Given the description of an element on the screen output the (x, y) to click on. 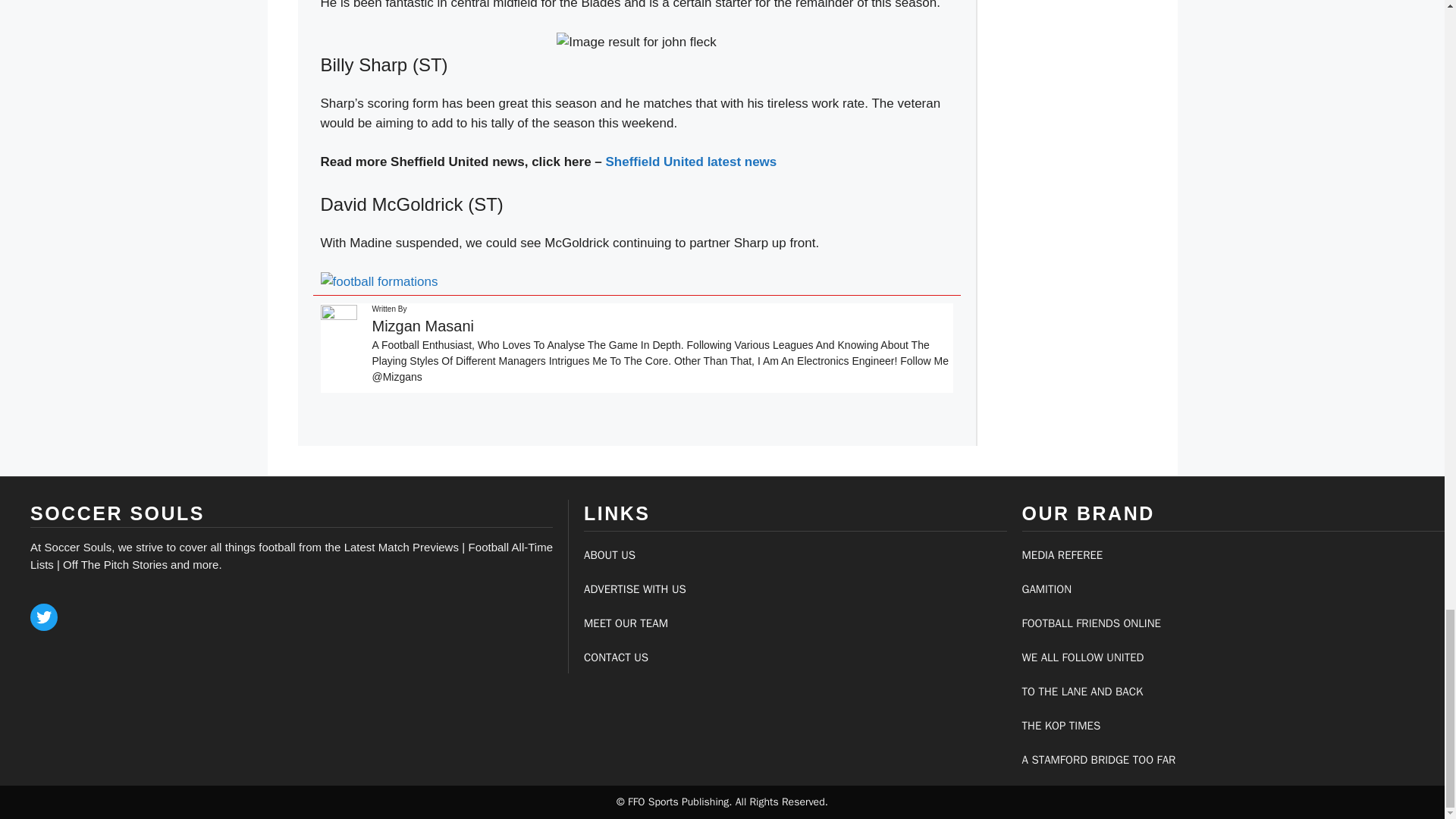
GAMITION (1046, 589)
A STAMFORD BRIDGE TOO FAR (1099, 759)
WE ALL FOLLOW UNITED (1083, 657)
ADVERTISE WITH US (634, 589)
THE KOP TIMES (1061, 725)
MEDIA REFEREE (1062, 554)
TO THE LANE AND BACK (1082, 691)
CONTACT US (615, 657)
ABOUT US (608, 554)
Mizgan Masani (422, 325)
Sheffield United latest news (691, 161)
MEET OUR TEAM (625, 622)
FOOTBALL FRIENDS ONLINE (1091, 622)
Twitter (44, 616)
